Given the description of an element on the screen output the (x, y) to click on. 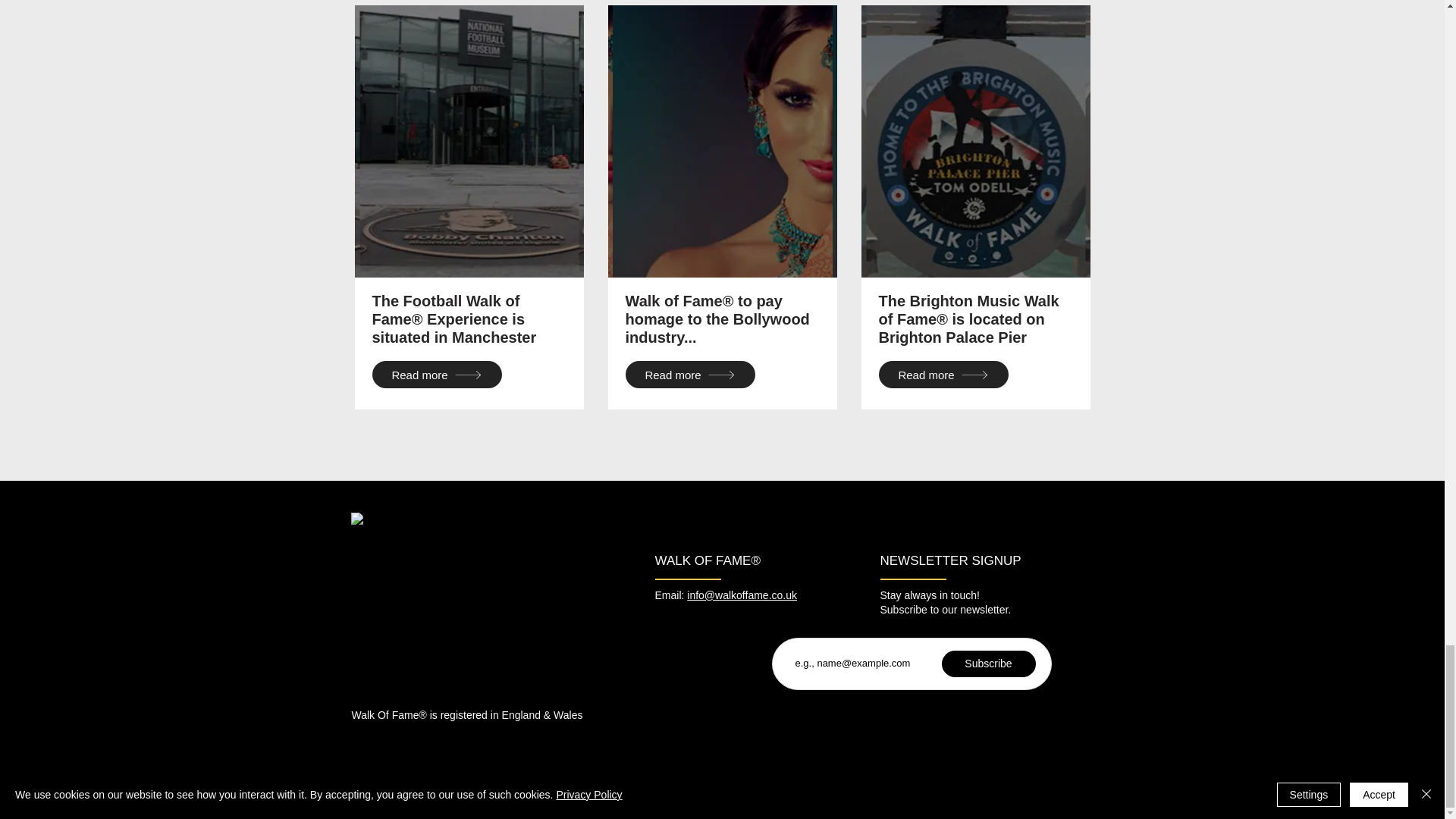
Read more (435, 374)
Read more (689, 374)
Subscribe (988, 663)
Read more (942, 374)
